Given the description of an element on the screen output the (x, y) to click on. 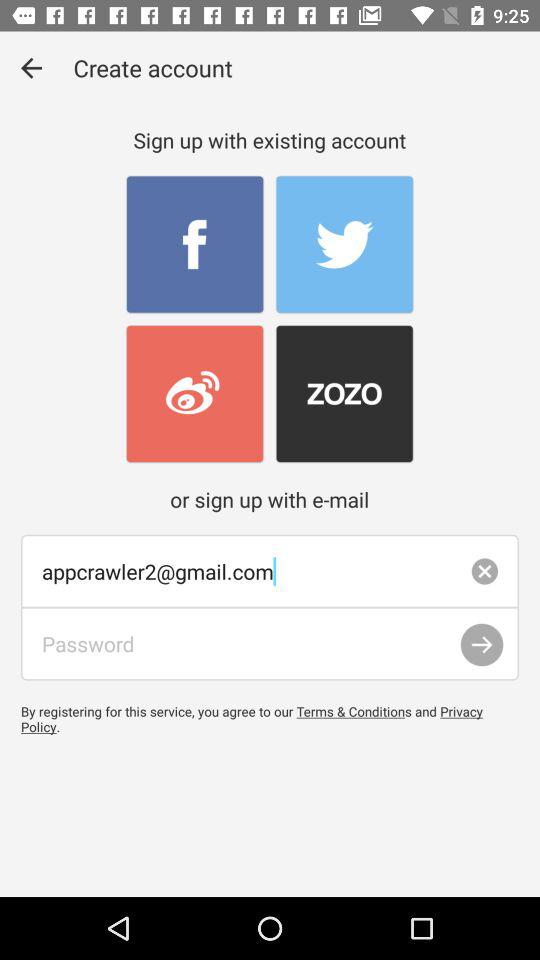
login with existing account (194, 394)
